Given the description of an element on the screen output the (x, y) to click on. 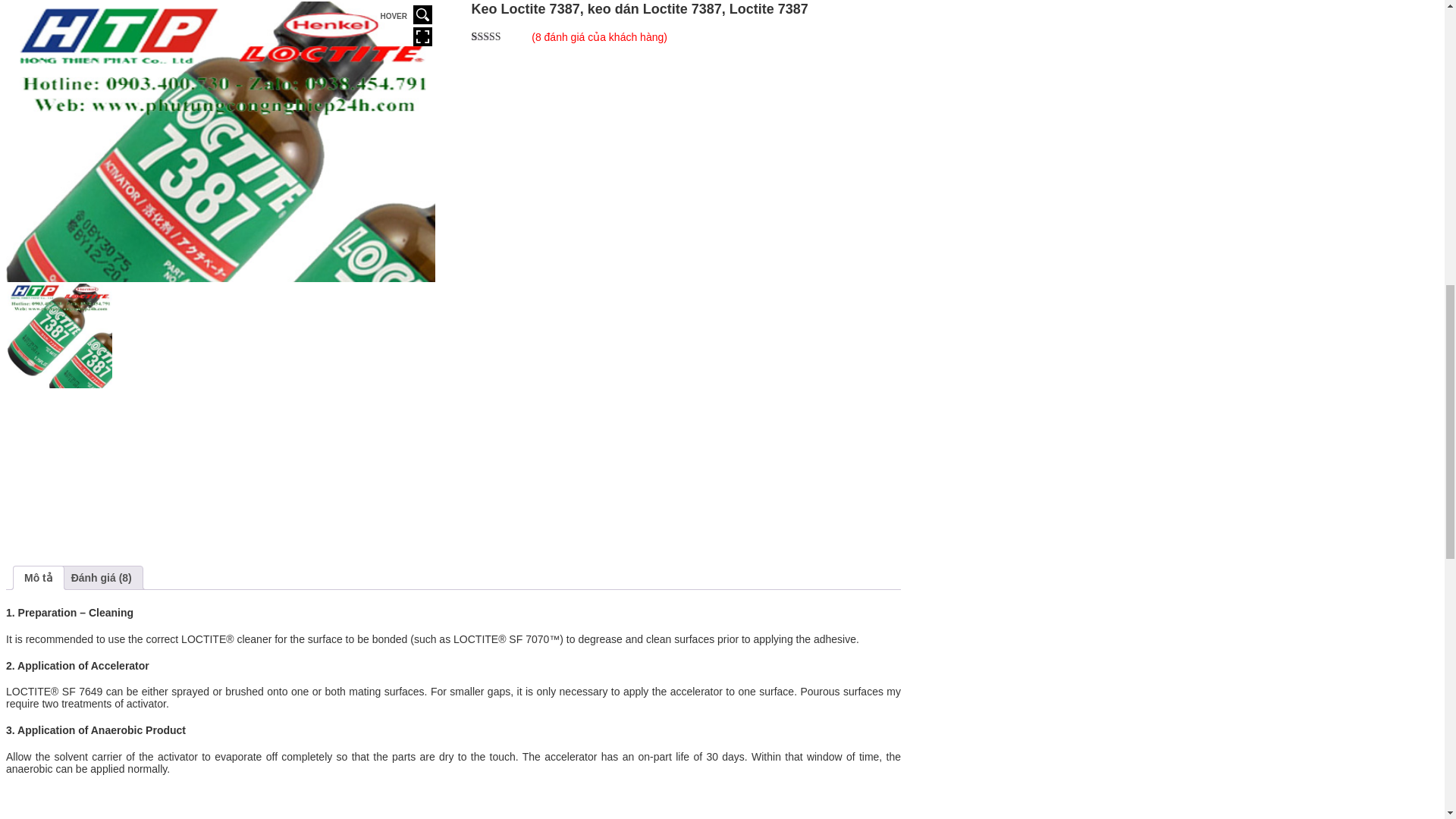
Full Screen (422, 36)
